Given the description of an element on the screen output the (x, y) to click on. 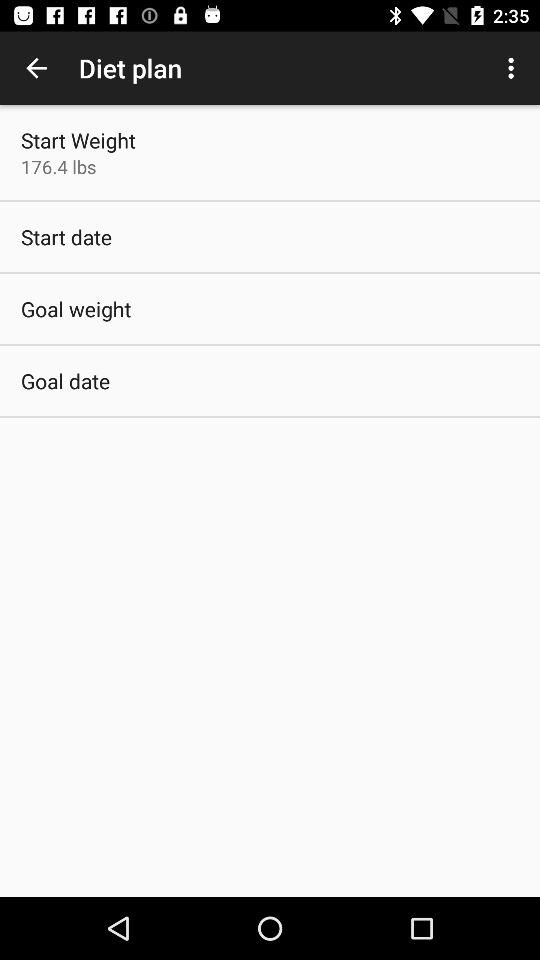
turn off the icon above the 176.4 lbs icon (78, 139)
